Given the description of an element on the screen output the (x, y) to click on. 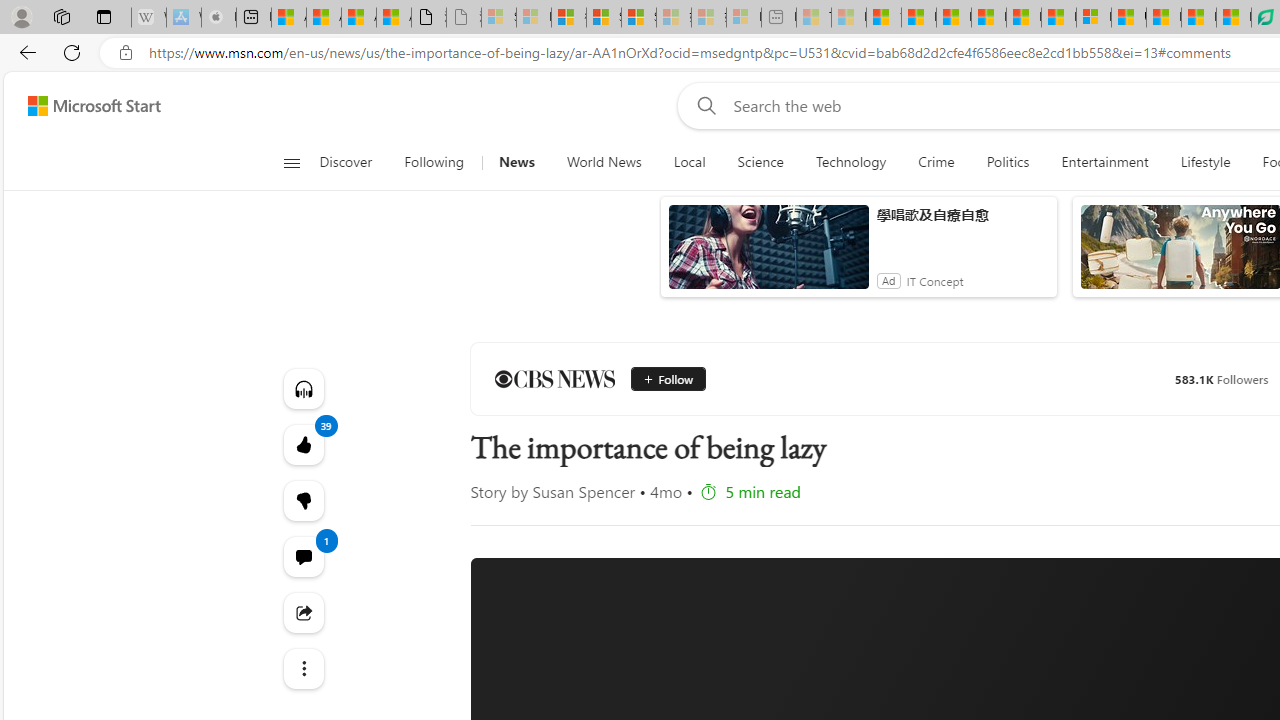
IT Concept (934, 280)
Microsoft account | Account Checkup - Sleeping (744, 17)
Food and Drink - MSN (918, 17)
39 Like (302, 444)
CBS News (554, 378)
Class: at-item (302, 668)
CBS News (554, 378)
39 (302, 500)
Drinking tea every day is proven to delay biological aging (988, 17)
